Given the description of an element on the screen output the (x, y) to click on. 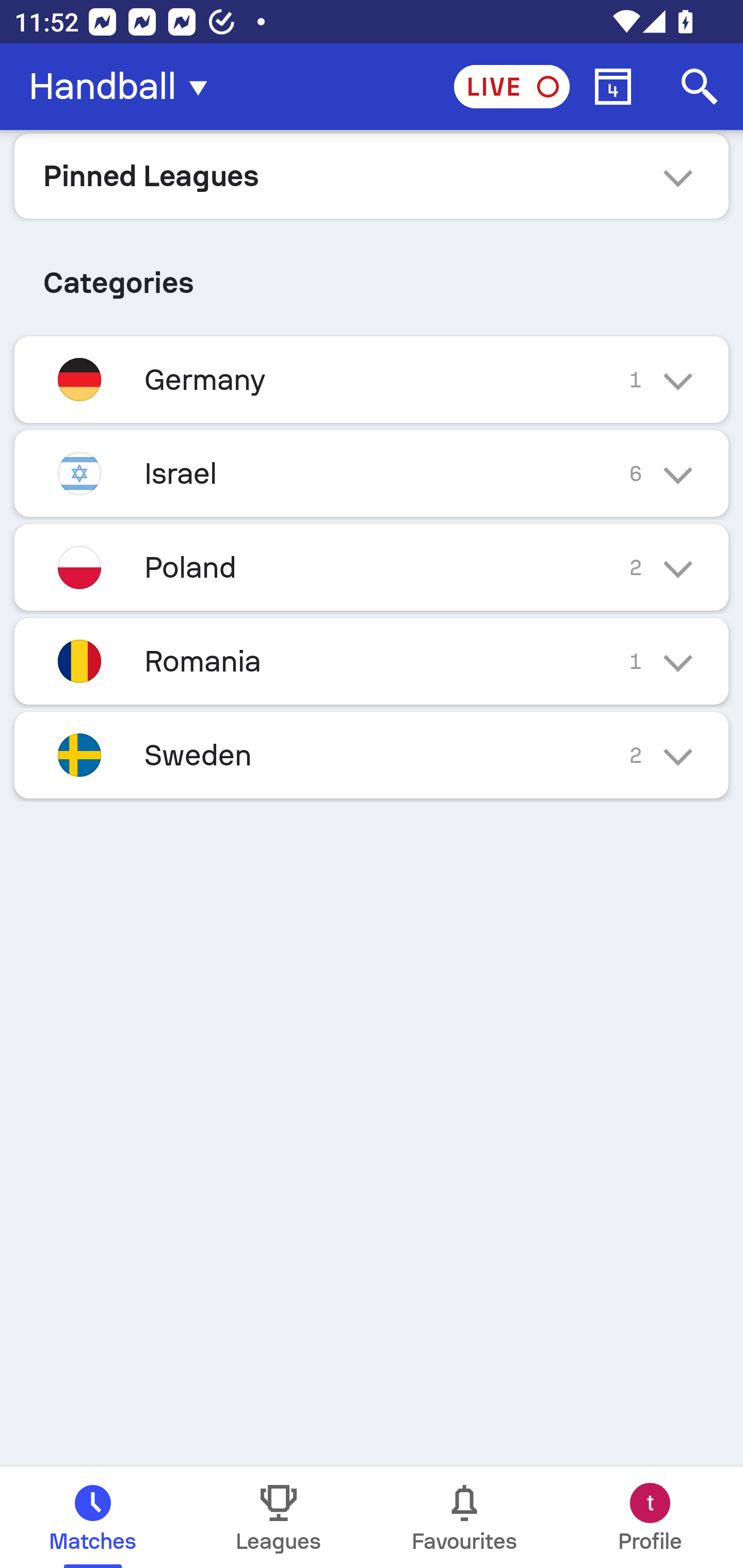
Handball (124, 86)
Calendar (612, 86)
Search (699, 86)
Pinned Leagues (371, 175)
Categories (371, 275)
Germany 1 (371, 379)
Israel 6 (371, 473)
Poland 2 (371, 566)
Romania 1 (371, 660)
Sweden 2 (371, 754)
Leagues (278, 1517)
Favourites (464, 1517)
Profile (650, 1517)
